Given the description of an element on the screen output the (x, y) to click on. 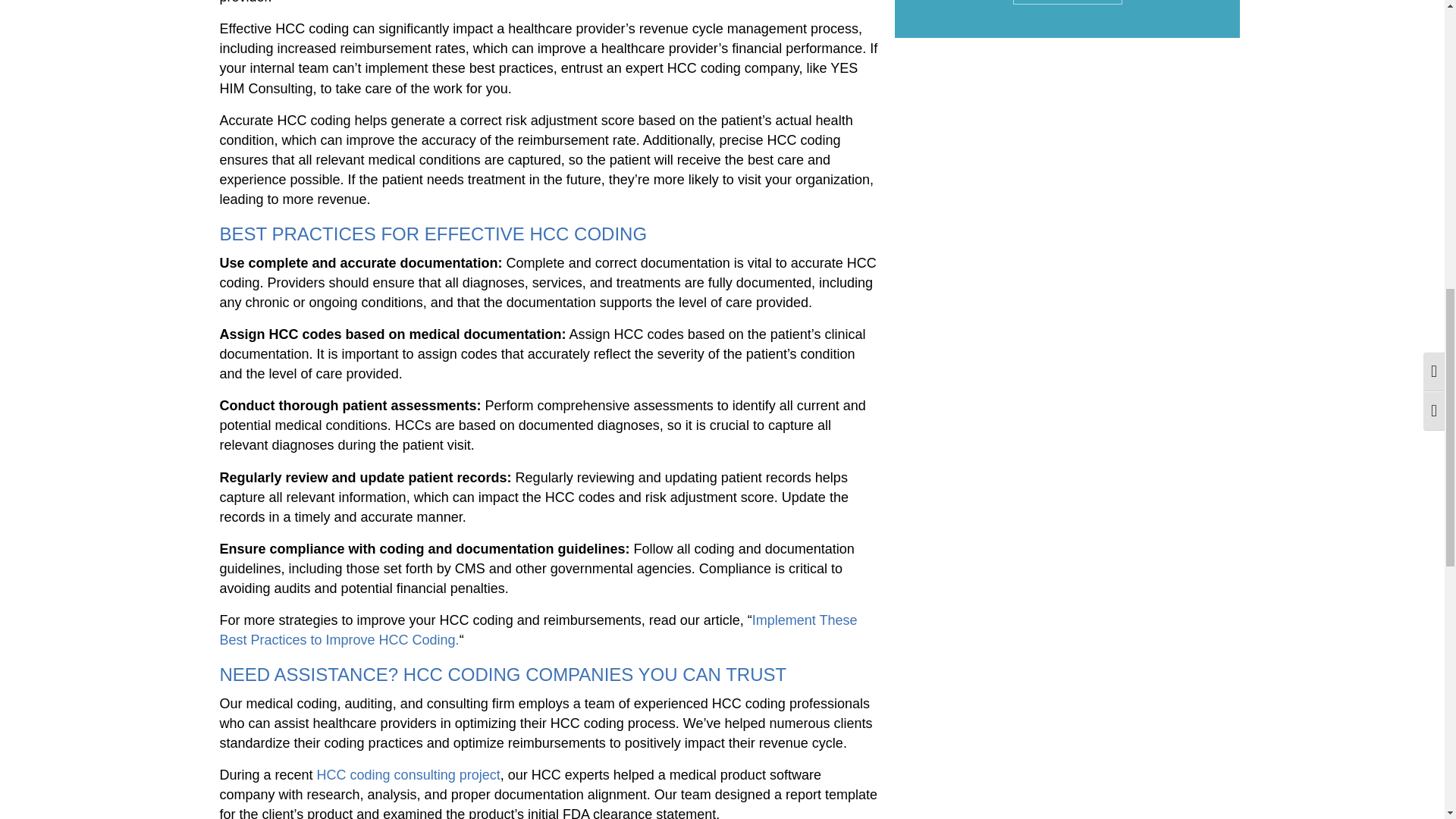
Implement These Best Practices to Improve HCC Coding. (538, 629)
HCC coding consulting project (408, 774)
Subscribe (1067, 2)
